Given the description of an element on the screen output the (x, y) to click on. 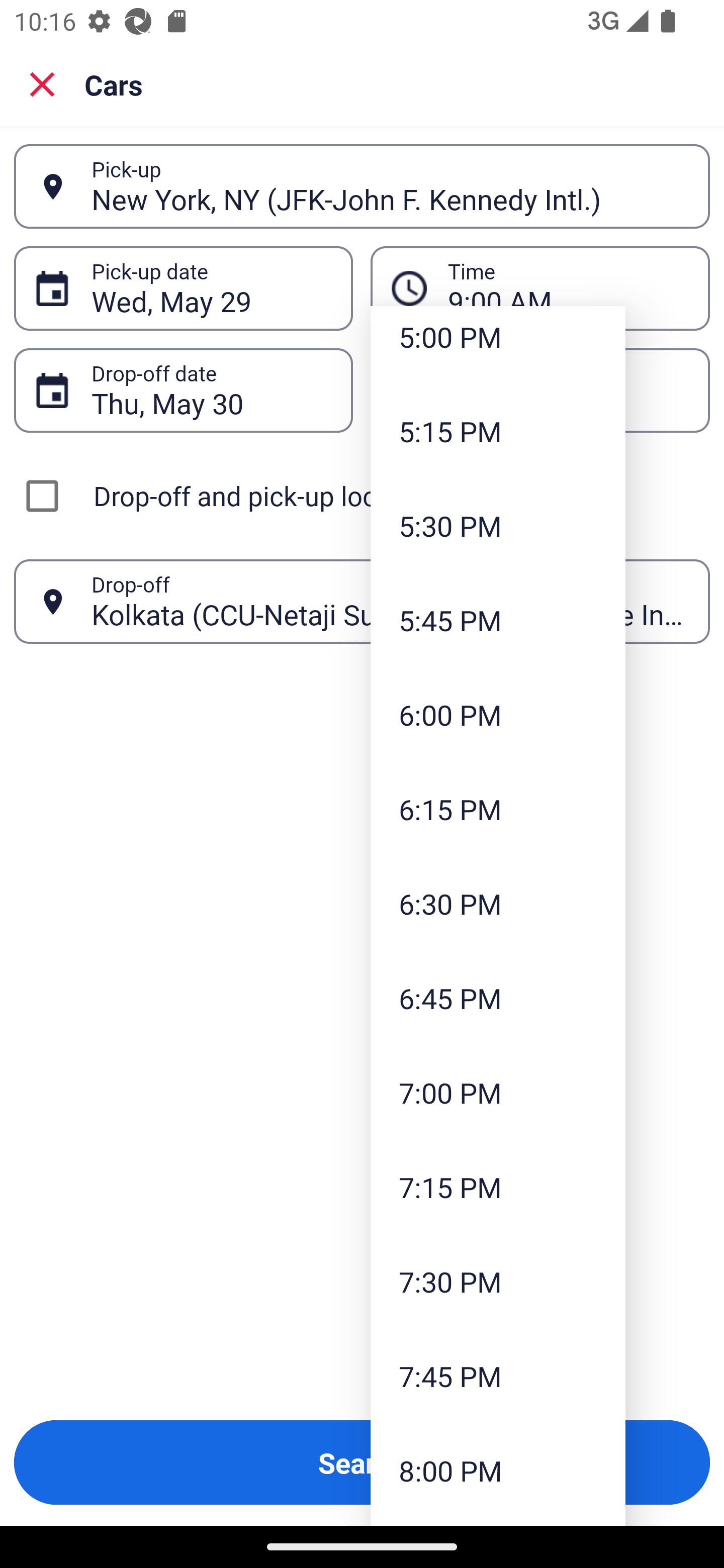
5:00 PM (497, 344)
5:15 PM (497, 431)
5:30 PM (497, 525)
5:45 PM (497, 619)
6:00 PM (497, 714)
6:15 PM (497, 809)
6:30 PM (497, 903)
6:45 PM (497, 997)
7:00 PM (497, 1092)
7:15 PM (497, 1186)
7:30 PM (497, 1281)
7:45 PM (497, 1375)
8:00 PM (497, 1470)
